Given the description of an element on the screen output the (x, y) to click on. 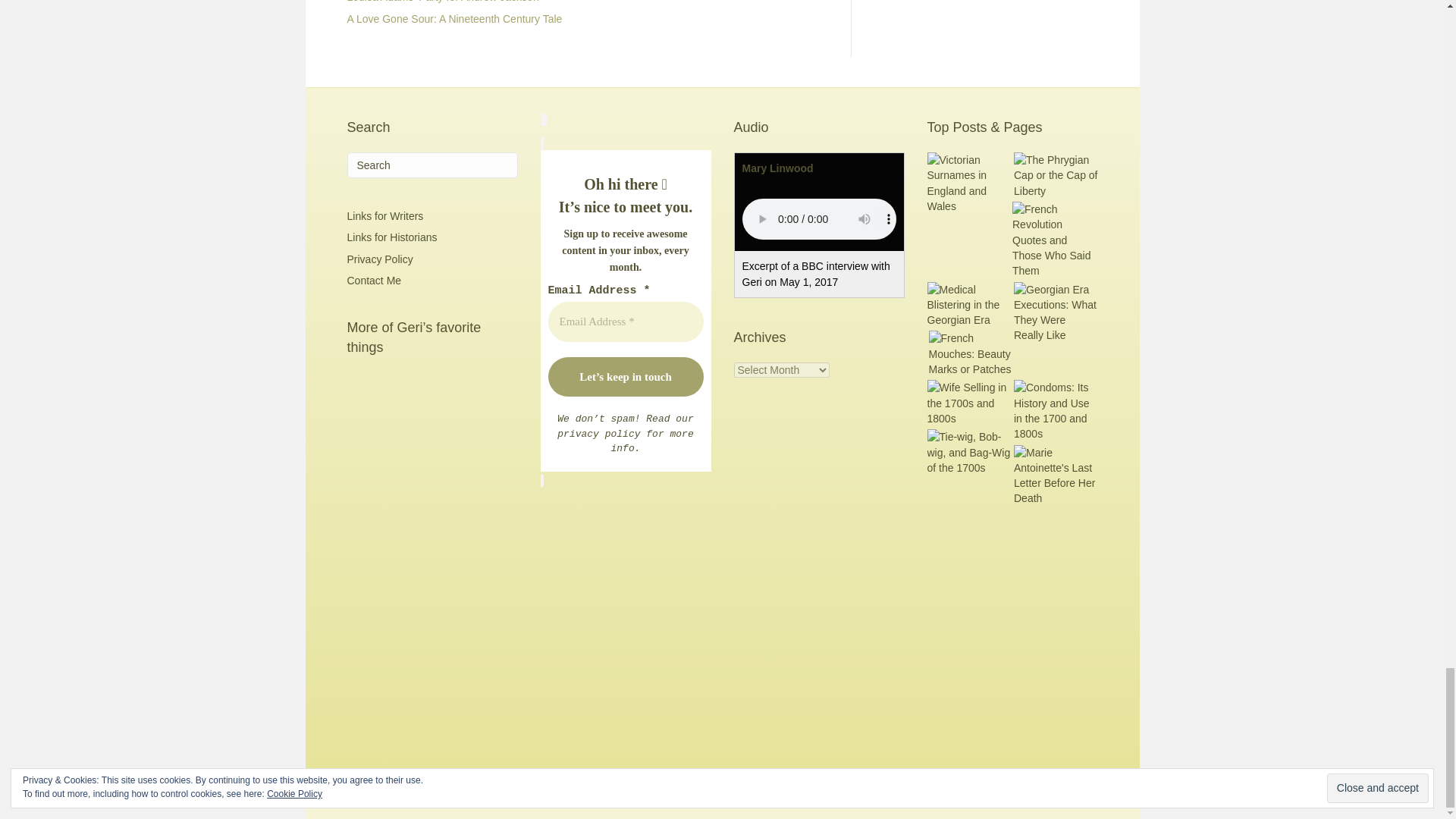
Georgian Era Executions: What They Were Really Like (1055, 312)
Medical Blistering in the Georgian Era (968, 304)
Type and press Enter to search. (432, 165)
Search (432, 165)
Victorian Surnames in England and Wales (968, 182)
Email Address (625, 322)
Search (432, 165)
The Phrygian Cap or the Cap of Liberty (1055, 175)
French Revolution Quotes and Those Who Said Them (1053, 239)
